Given the description of an element on the screen output the (x, y) to click on. 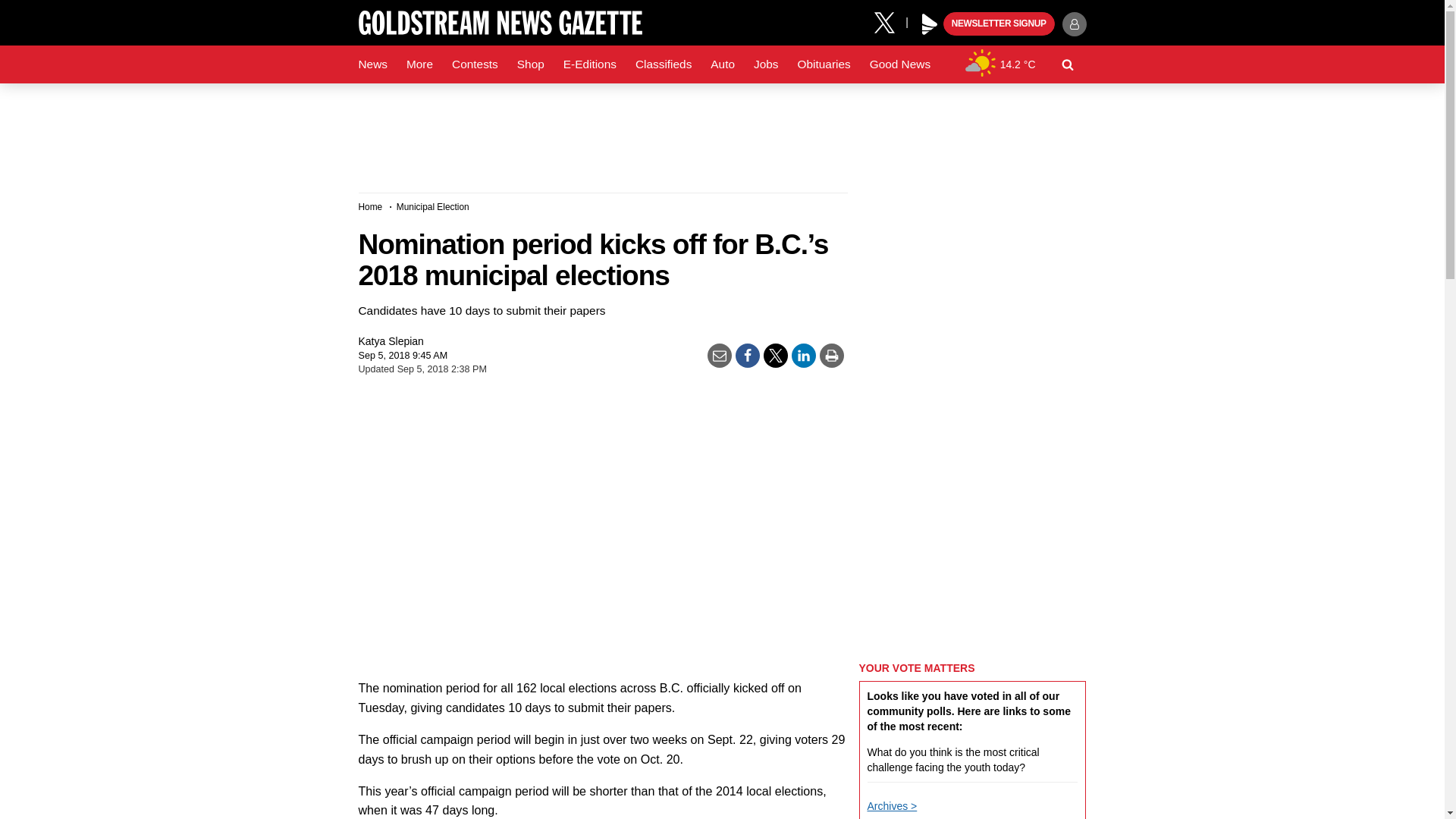
NEWSLETTER SIGNUP (998, 24)
News (372, 64)
Black Press Media (929, 24)
3rd party ad content (721, 131)
Play (929, 24)
X (889, 21)
